Given the description of an element on the screen output the (x, y) to click on. 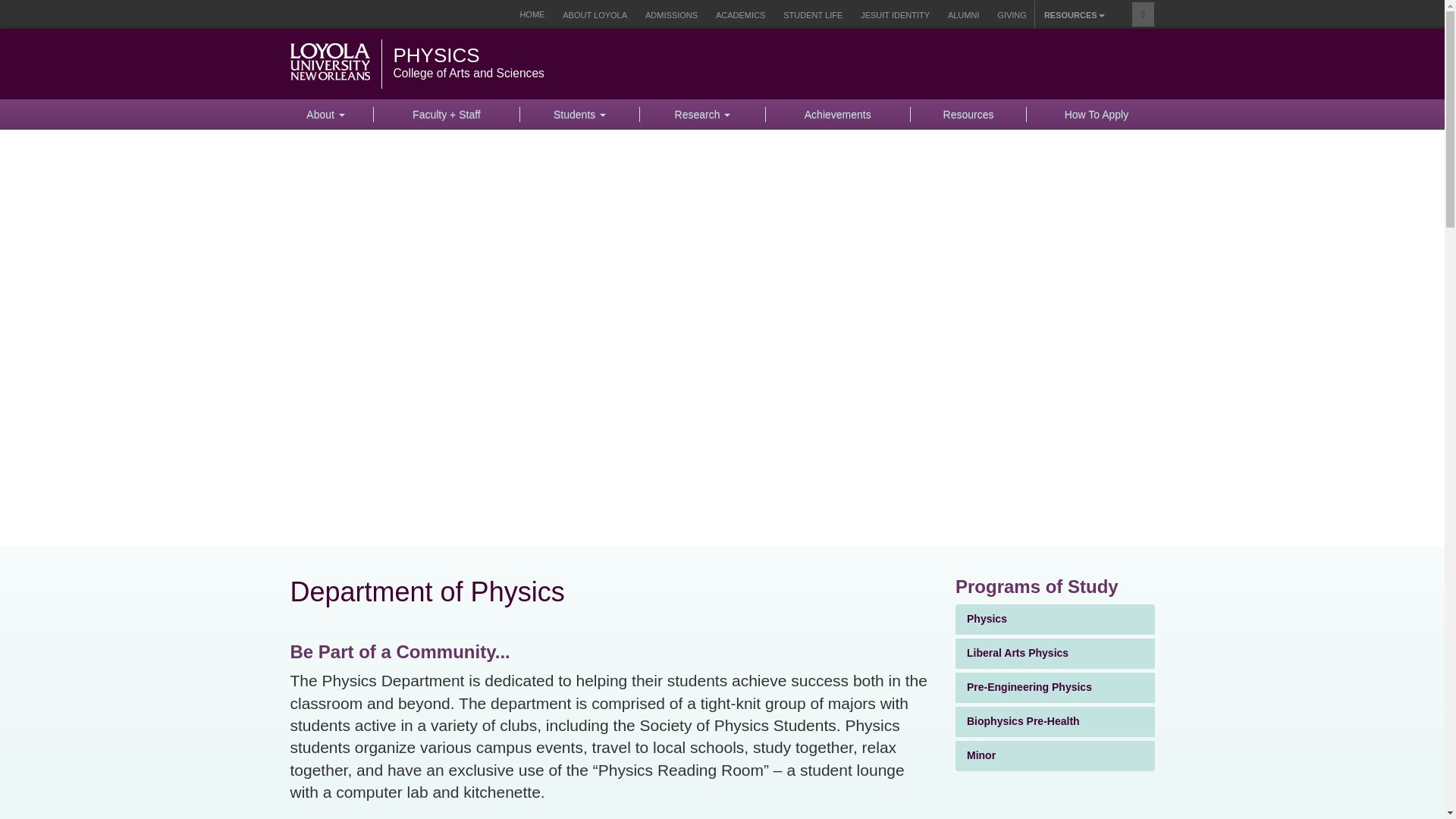
GIVING (1011, 15)
ACADEMICS (740, 15)
Research (702, 114)
Students (579, 114)
ABOUT LOYOLA (594, 13)
ALUMNI (963, 15)
PHYSICS (436, 55)
Achievements (838, 114)
STUDENT LIFE (813, 15)
About (326, 114)
